Given the description of an element on the screen output the (x, y) to click on. 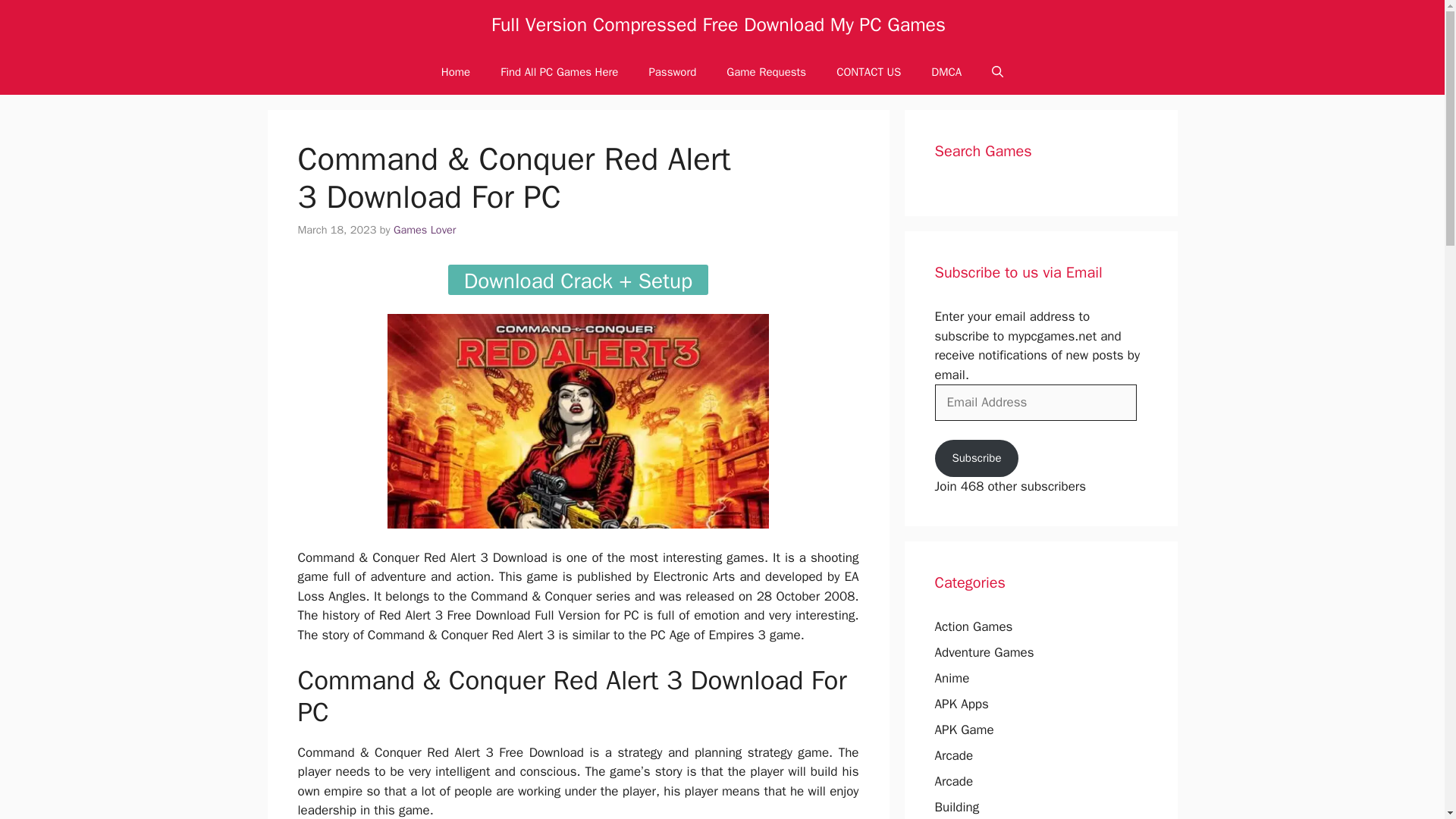
Subscribe (975, 457)
APK Game (963, 729)
Full Version Compressed Free Download My PC Games (718, 24)
Password (672, 72)
Home (455, 72)
Anime (951, 678)
Action Games (972, 626)
Arcade (953, 781)
Adventure Games (983, 652)
DMCA (945, 72)
